Given the description of an element on the screen output the (x, y) to click on. 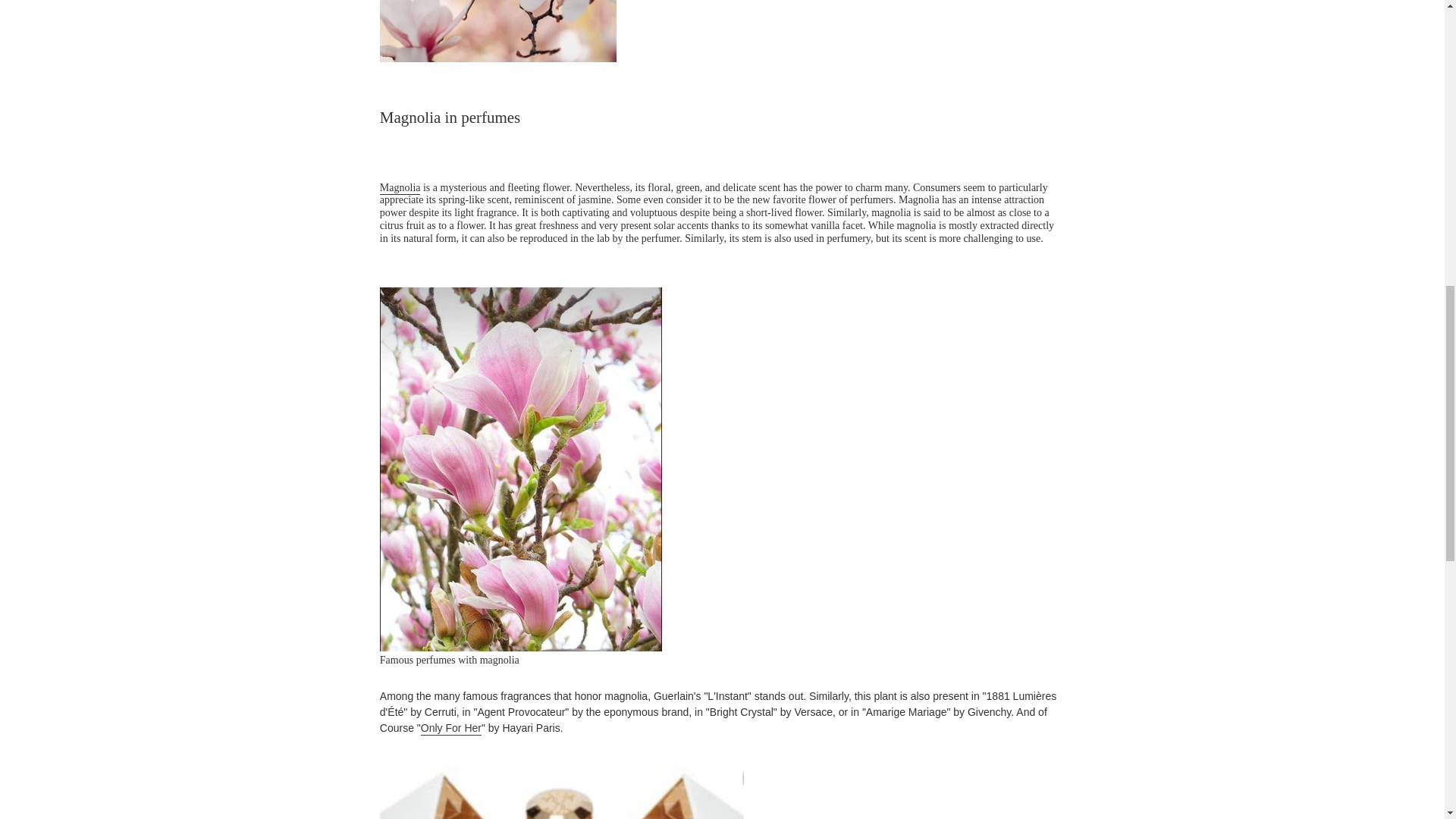
variety of magnolia  (400, 187)
Only For Herr by Hayari (450, 728)
